Given the description of an element on the screen output the (x, y) to click on. 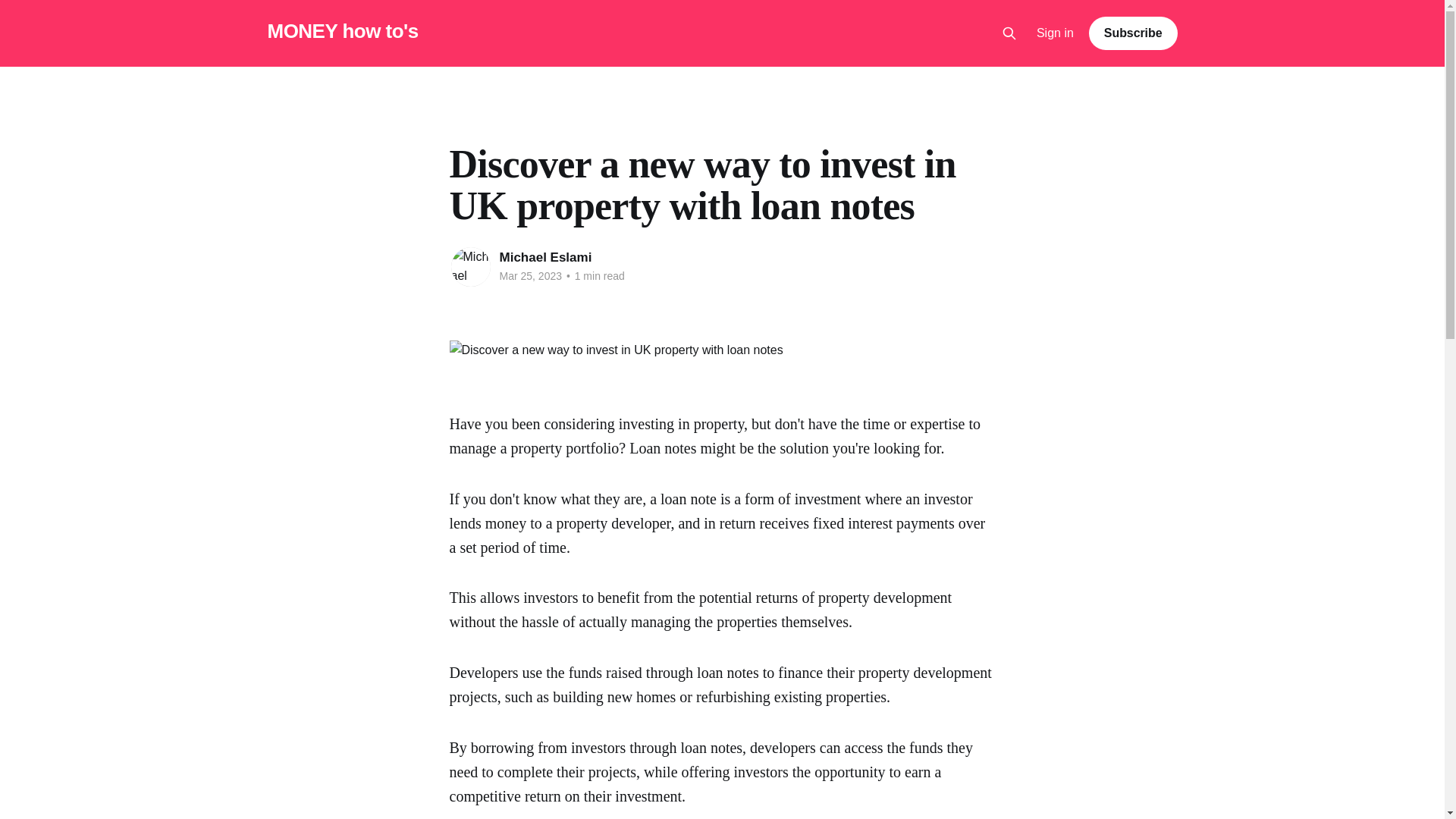
Subscribe (1133, 32)
Sign in (1055, 33)
MONEY how to's (341, 31)
Michael Eslami (545, 257)
